Given the description of an element on the screen output the (x, y) to click on. 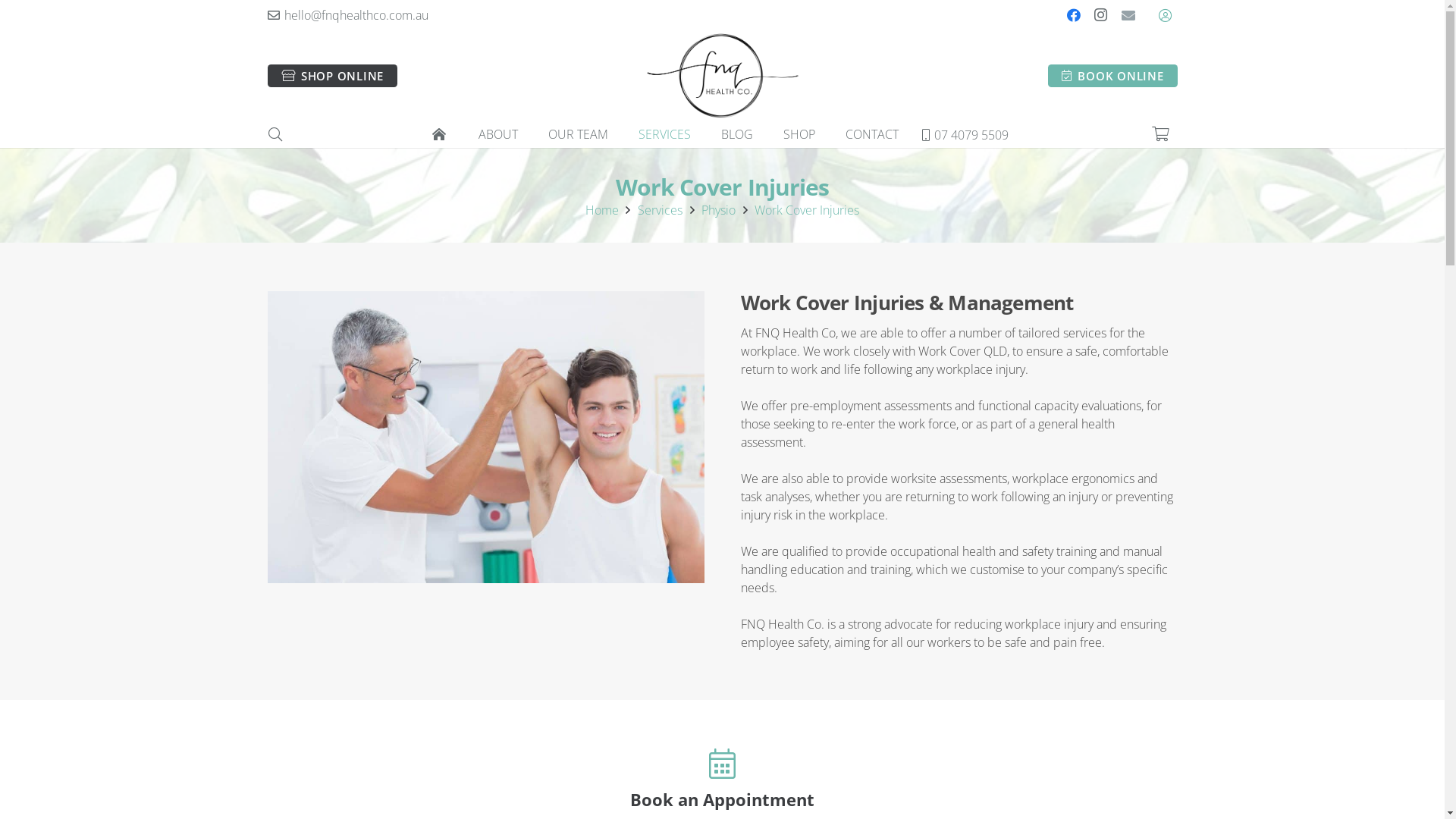
Email Element type: hover (1128, 14)
SERVICES Element type: text (664, 134)
Services Element type: text (659, 209)
Home Element type: text (601, 209)
BOOK ONLINE Element type: text (1112, 75)
ABOUT Element type: text (498, 134)
Physio Element type: text (718, 209)
Work Cover Injuries Element type: text (806, 209)
0 Element type: text (1159, 134)
CONTACT Element type: text (871, 134)
07 4079 5509 Element type: text (965, 133)
hello@fnqhealthco.com.au Element type: text (346, 14)
OUR TEAM Element type: text (578, 134)
BLOG Element type: text (737, 134)
SHOP ONLINE Element type: text (331, 75)
Facebook Element type: hover (1073, 14)
Instagram Element type: hover (1100, 14)
SHOP Element type: text (799, 134)
